Given the description of an element on the screen output the (x, y) to click on. 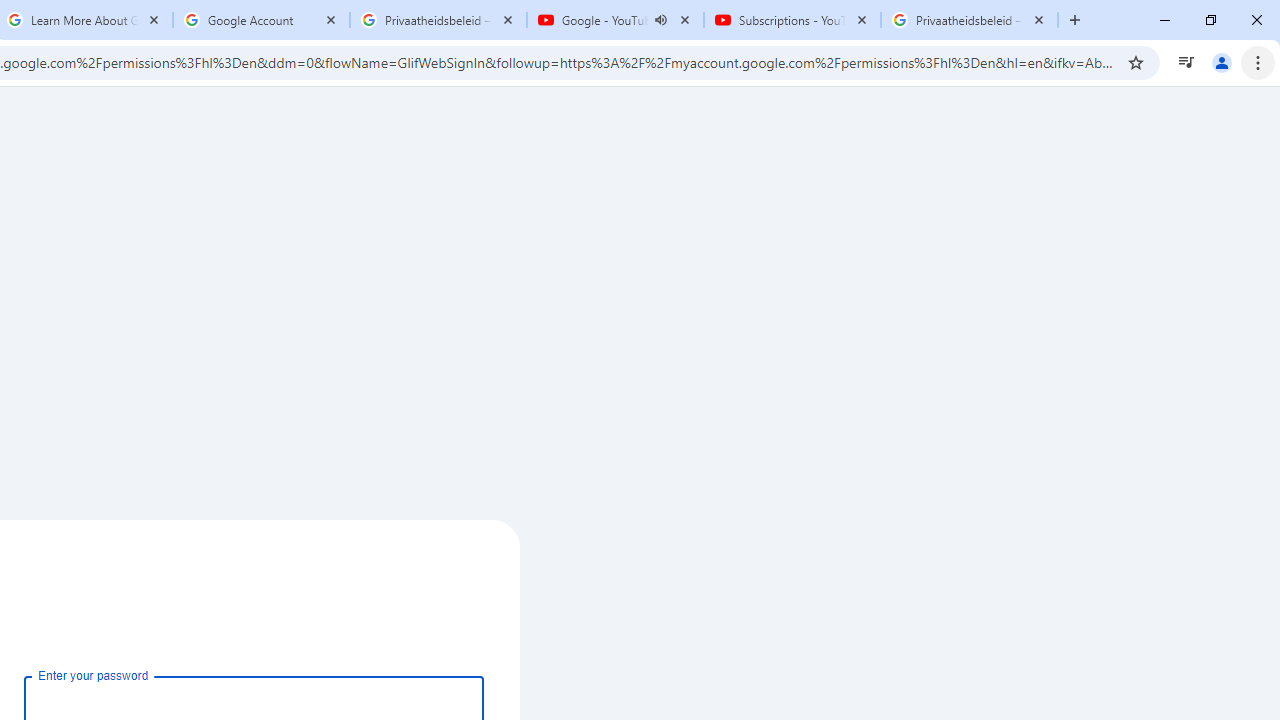
Google Account (260, 20)
Google - YouTube - Audio playing (615, 20)
Subscriptions - YouTube (792, 20)
